Given the description of an element on the screen output the (x, y) to click on. 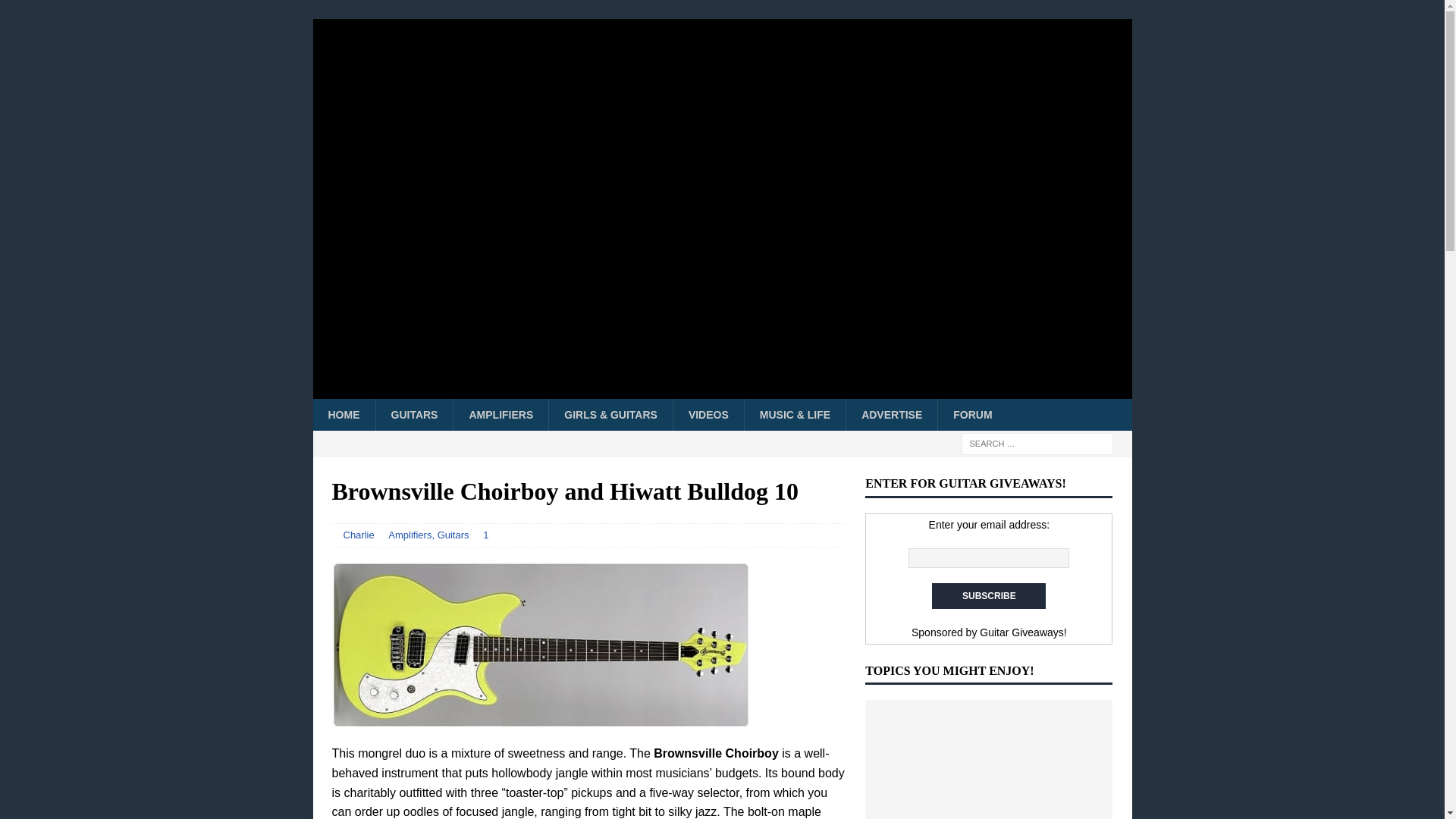
Amplifiers (409, 534)
HOME (343, 414)
Charlie (358, 534)
AMPLIFIERS (500, 414)
FORUM (972, 414)
Subscribe (988, 596)
VIDEOS (708, 414)
Search (56, 11)
Brownsville Choirboy (540, 645)
GUITARS (413, 414)
